Given the description of an element on the screen output the (x, y) to click on. 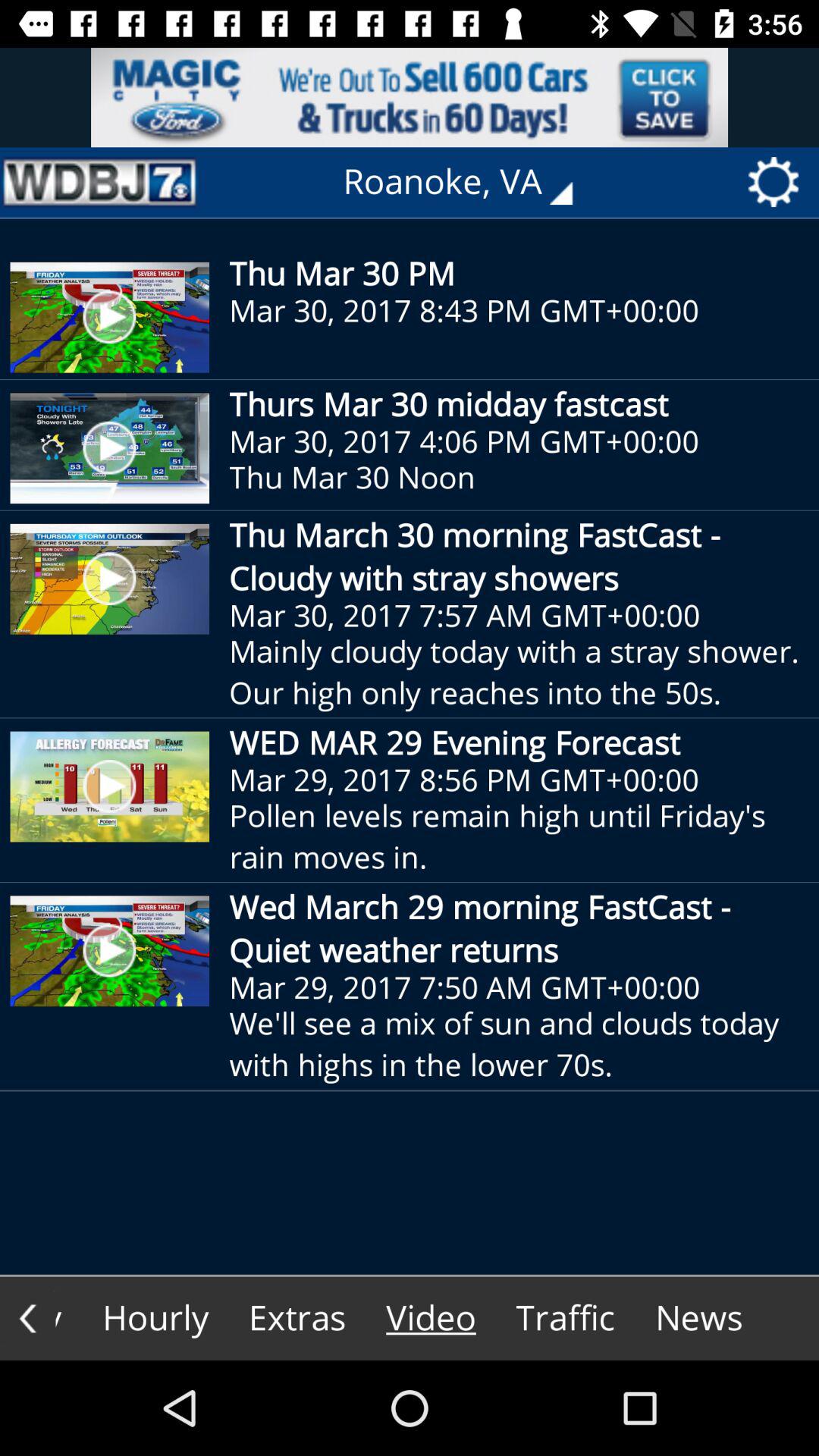
jump until roanoke, va (468, 182)
